Given the description of an element on the screen output the (x, y) to click on. 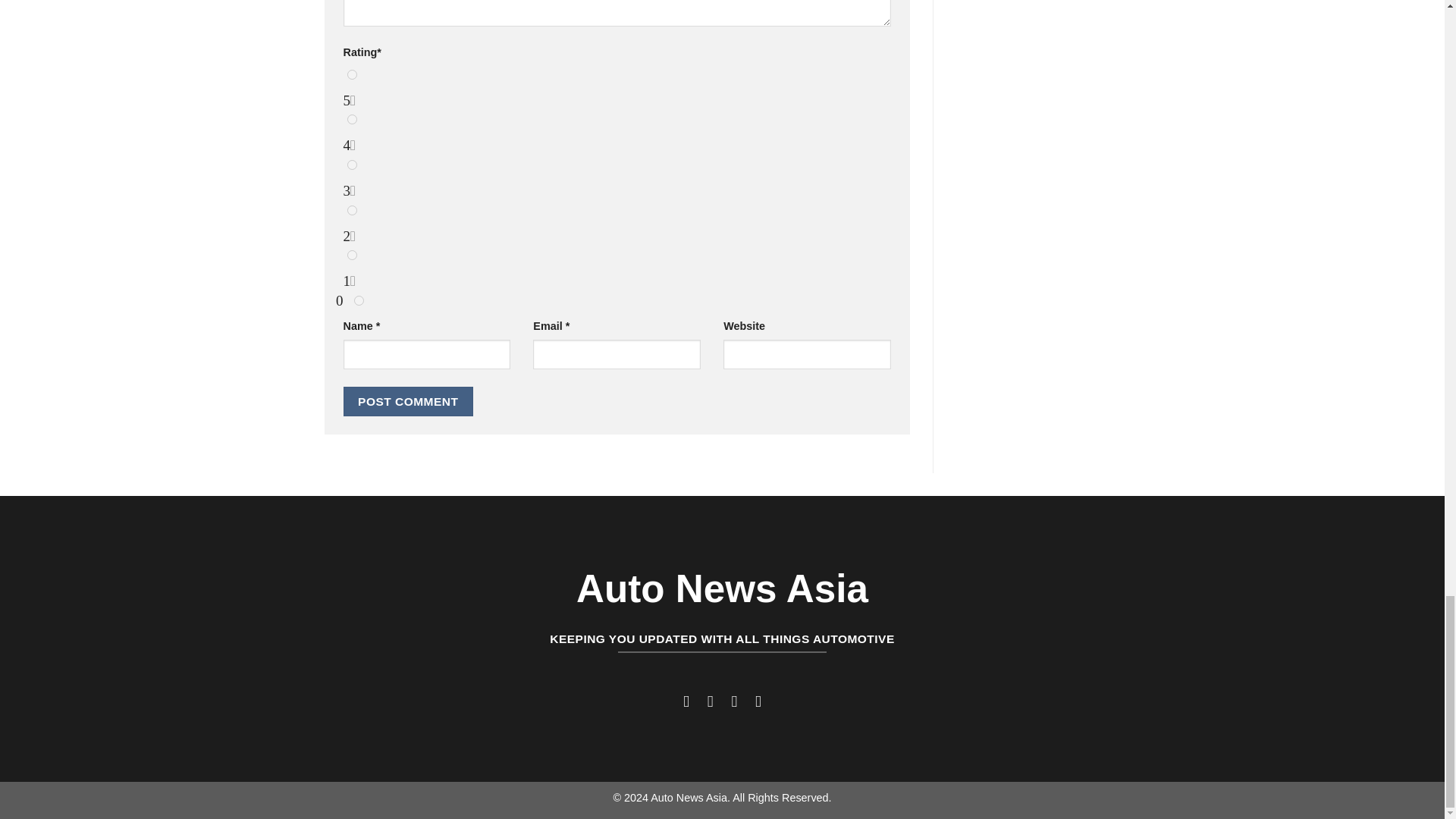
3 (351, 164)
2 (351, 210)
Follow on Instagram (709, 701)
1 (351, 255)
5 (351, 74)
Follow on LinkedIn (757, 701)
Follow on Facebook (686, 701)
Post Comment (407, 401)
0 (358, 300)
4 (351, 119)
